Given the description of an element on the screen output the (x, y) to click on. 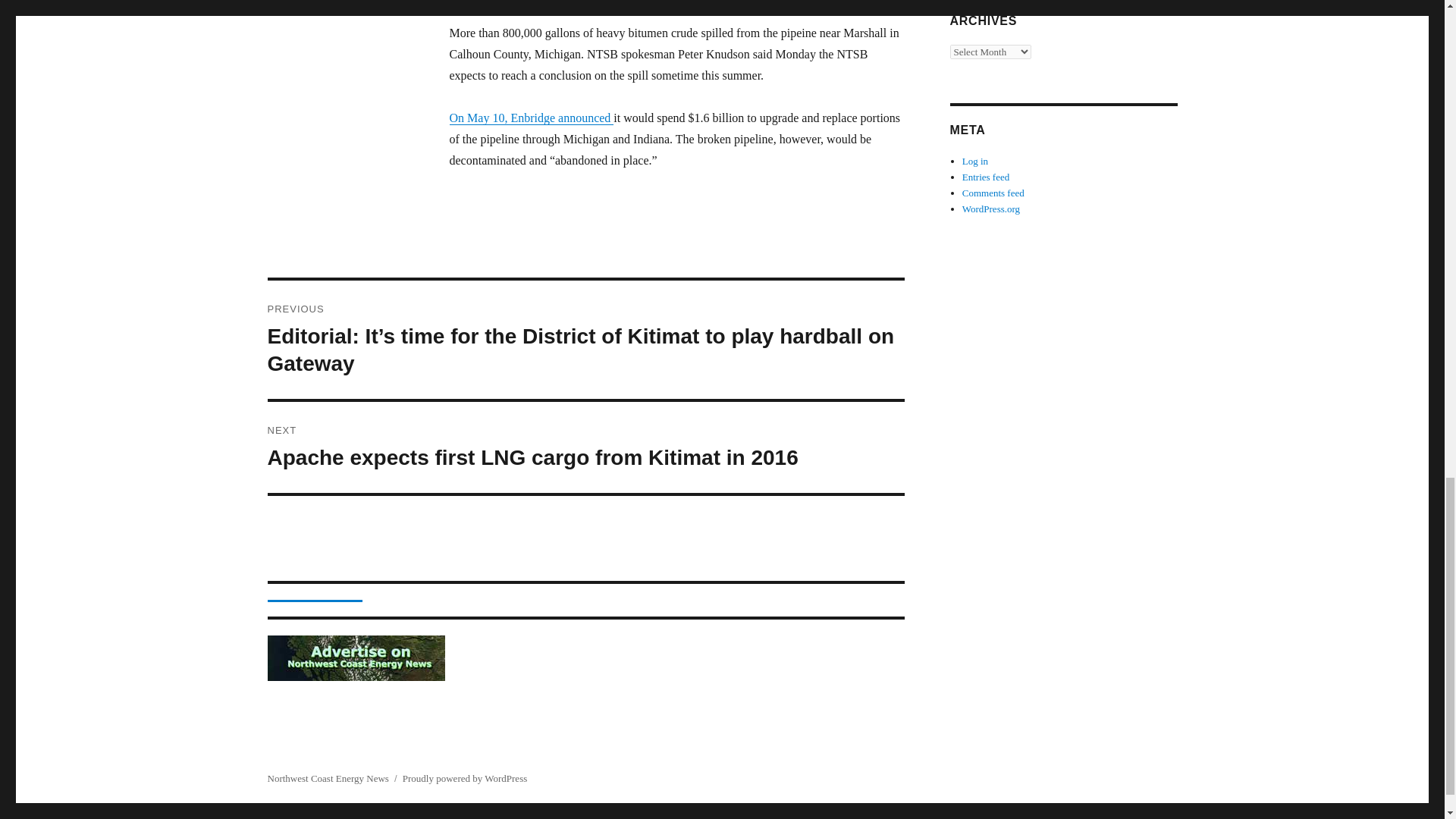
On May 10, Enbridge announced (530, 117)
